Given the description of an element on the screen output the (x, y) to click on. 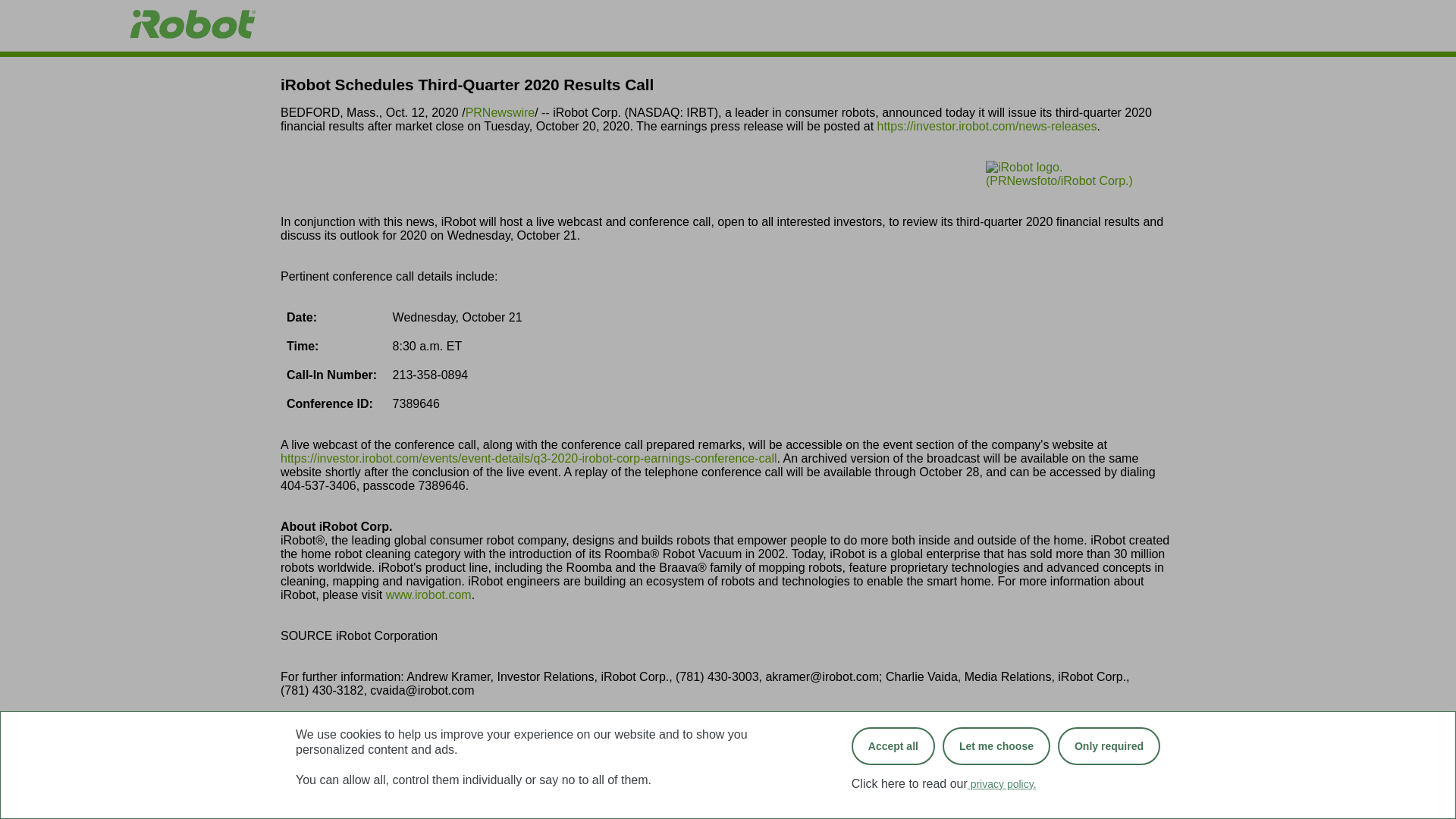
Accept all (1074, 759)
Let me choose (892, 745)
PRNewswire (995, 745)
www.irobot.com (1115, 759)
Cookie Preferences (500, 112)
Only required (428, 594)
privacy policy. (994, 759)
